Given the description of an element on the screen output the (x, y) to click on. 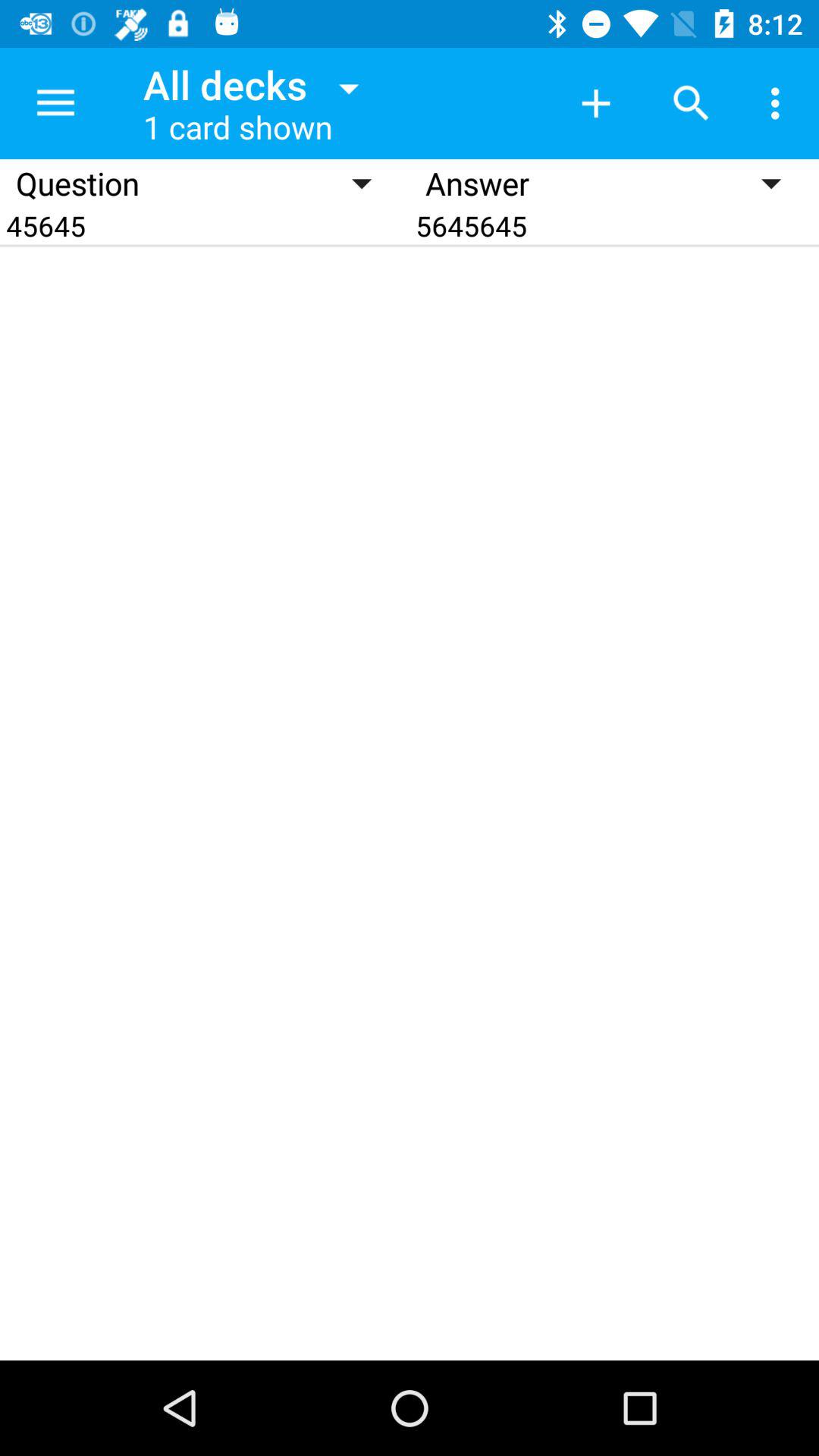
press the icon next to the 45645 item (614, 225)
